Given the description of an element on the screen output the (x, y) to click on. 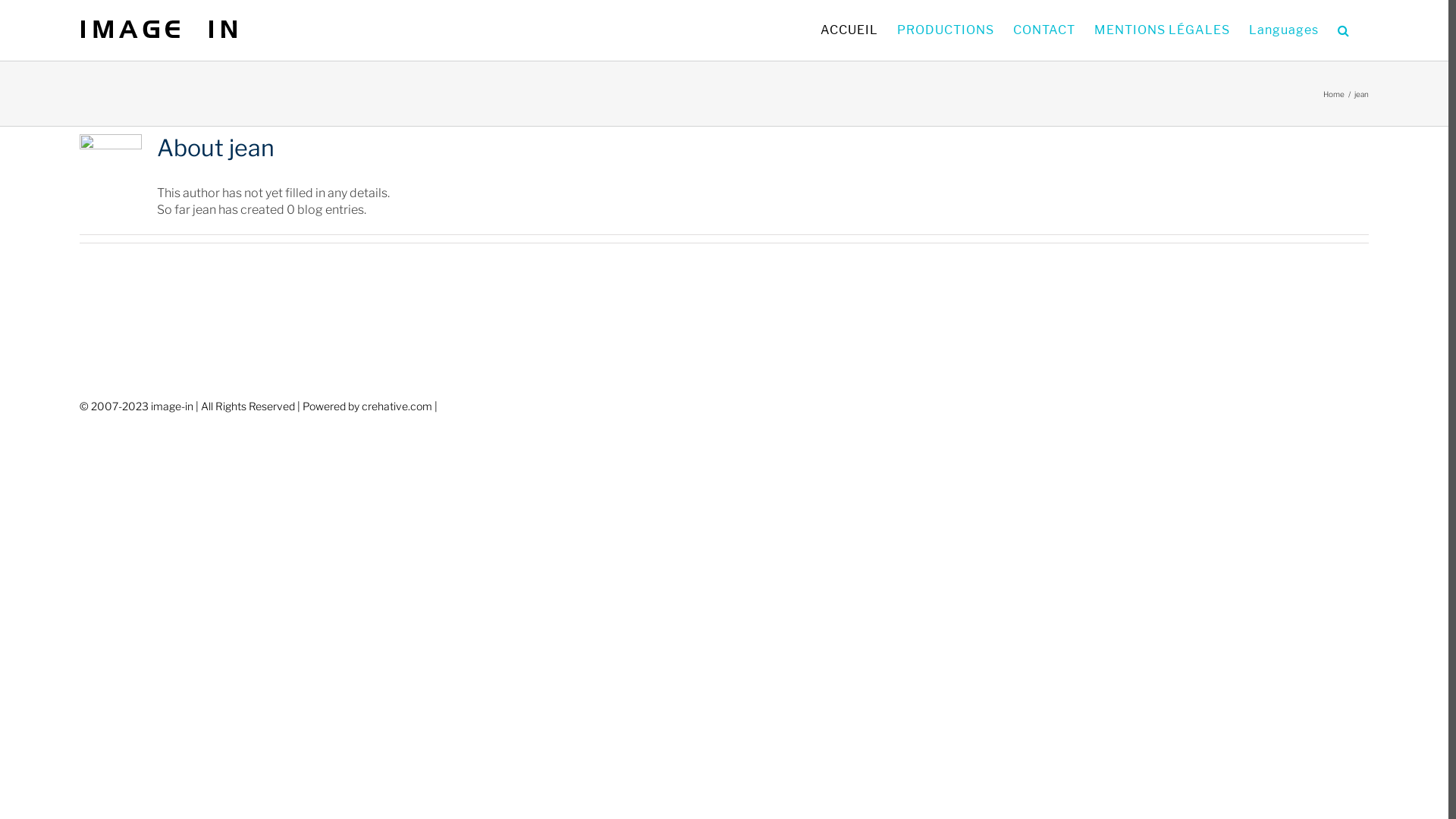
ACCUEIL Element type: text (849, 30)
Home Element type: text (1333, 93)
Search Element type: hover (1343, 30)
CONTACT Element type: text (1044, 30)
Languages Element type: text (1283, 30)
PRODUCTIONS Element type: text (945, 30)
Powered by crehative.com Element type: text (367, 405)
